Given the description of an element on the screen output the (x, y) to click on. 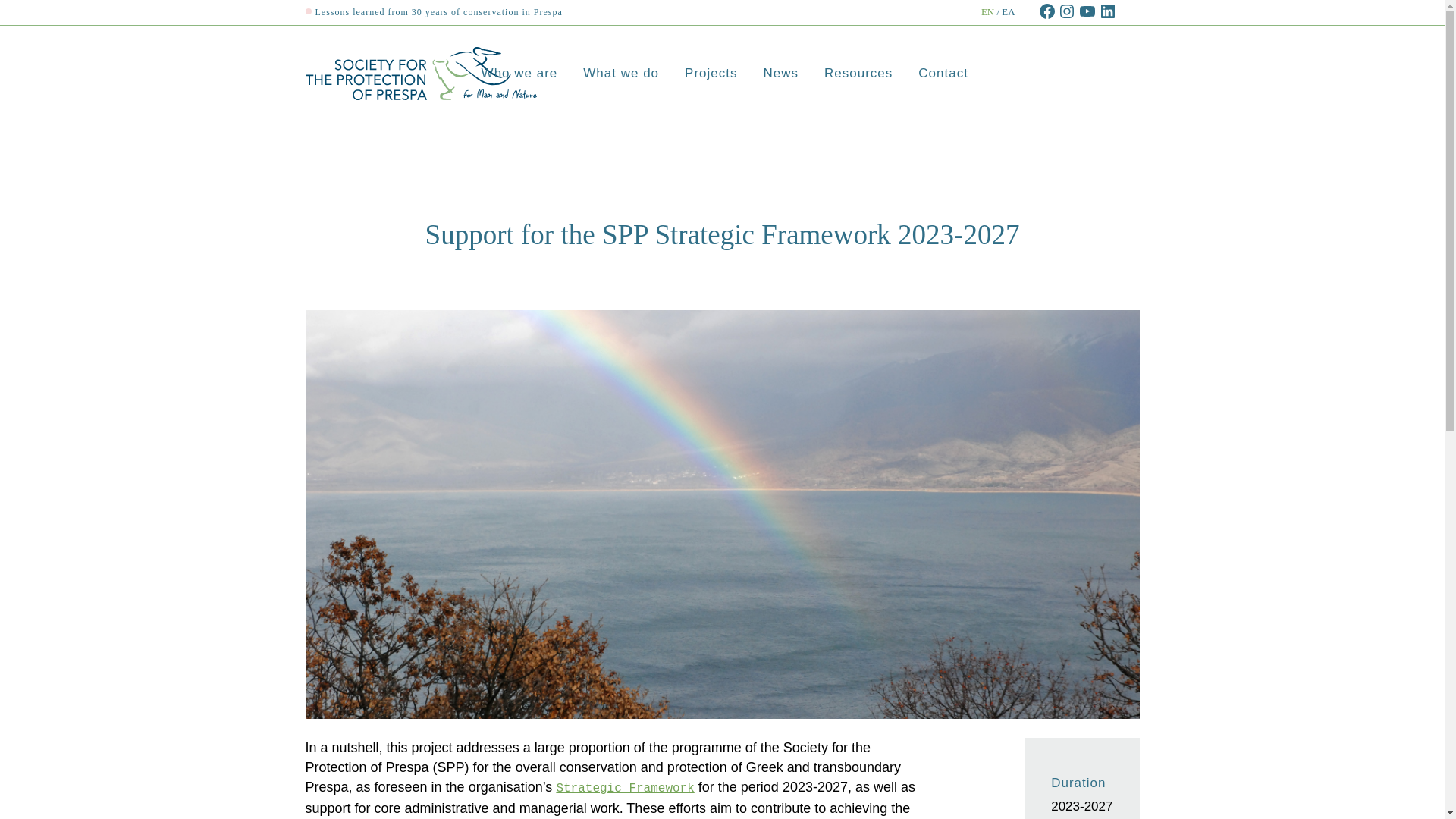
EN (987, 11)
Who we are (519, 72)
Resources (857, 72)
Lessons learned from 30 years of conservation in Prespa (433, 11)
What we do (620, 72)
